Given the description of an element on the screen output the (x, y) to click on. 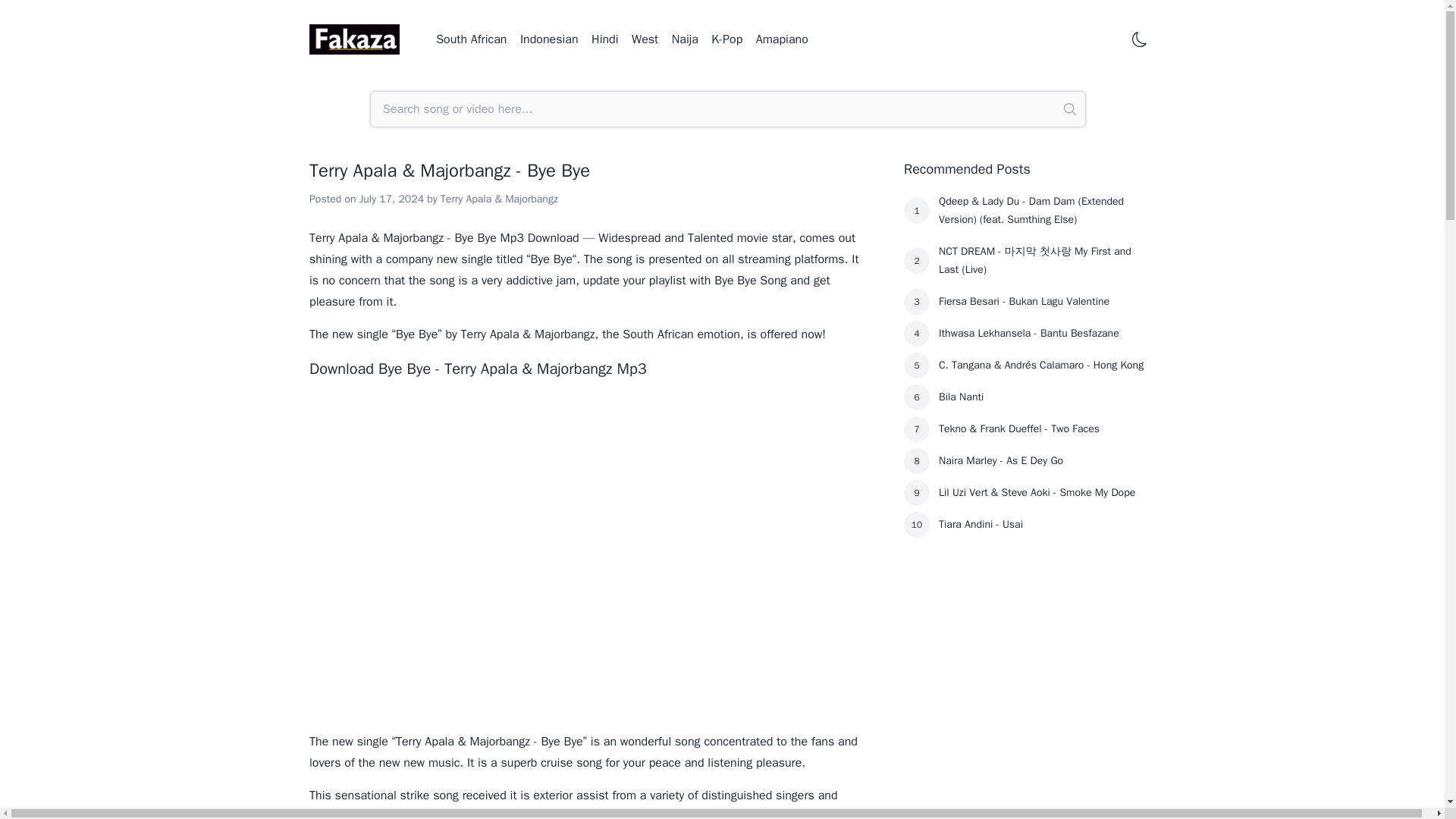
Ithwasa Lekhansela - Bantu Besfazane (1043, 333)
Hindi (604, 39)
Amapiano (781, 39)
Naira Marley - As E Dey Go (1043, 460)
Fiersa Besari - Bukan Lagu Valentine (1043, 301)
Fiersa Besari - Bukan Lagu Valentine (1043, 301)
Naija (684, 39)
Naira Marley - As E Dey Go (1043, 460)
Tiara Andini - Usai (1043, 524)
Ithwasa Lekhansela - Bantu Besfazane (1043, 333)
Bila Nanti (1043, 397)
West (644, 39)
K-Pop (726, 39)
Indonesian (548, 39)
Bila Nanti (1043, 397)
